Given the description of an element on the screen output the (x, y) to click on. 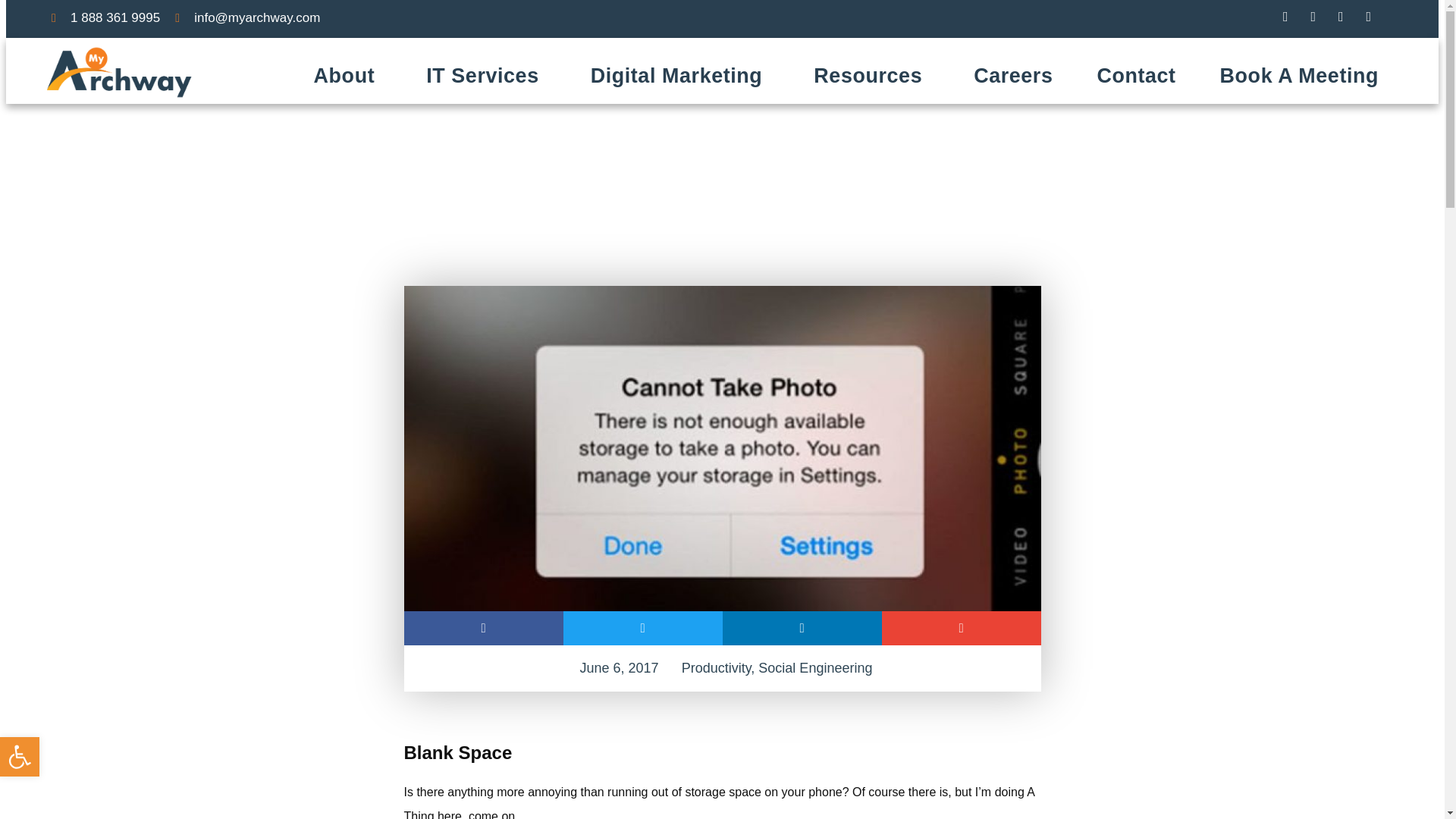
Resources (872, 75)
Digital Marketing (680, 75)
1 888 361 9995 (105, 17)
Contact (1135, 75)
Productivity (716, 667)
June 6, 2017 (615, 668)
Accessibility Tools (19, 756)
Accessibility Tools (19, 756)
Book A Meeting (1299, 75)
